Given the description of an element on the screen output the (x, y) to click on. 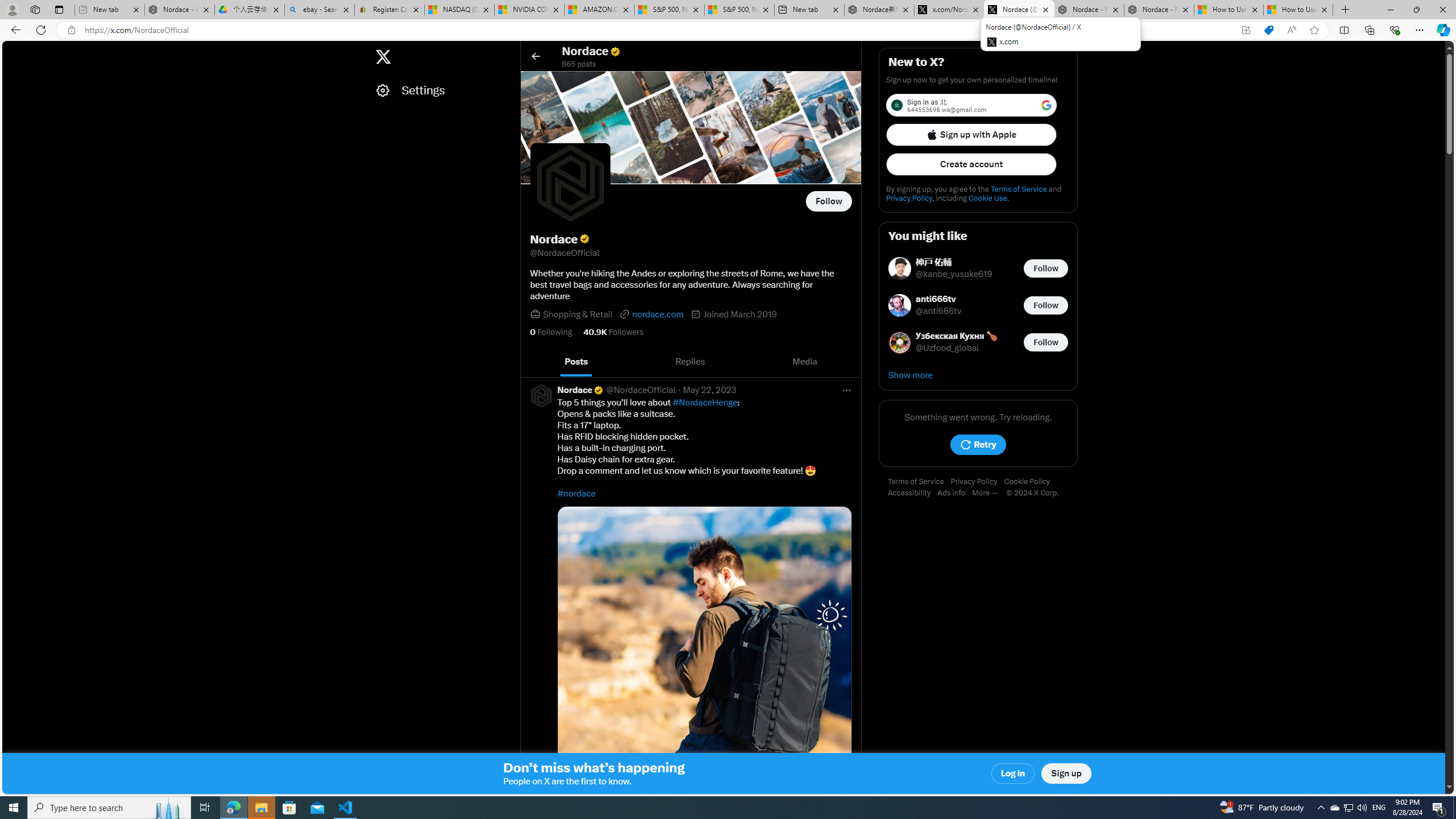
New tab - Sleeping (109, 9)
@anti666tv (938, 311)
ebay - Search (319, 9)
Class: LgbsSe-Bz112c (1046, 104)
Square profile picture (540, 395)
Skip to trending (12, 50)
#nordace (576, 493)
Settings (441, 90)
Previous (532, 361)
X (382, 56)
@kanbe_yusuke619 (953, 274)
